Given the description of an element on the screen output the (x, y) to click on. 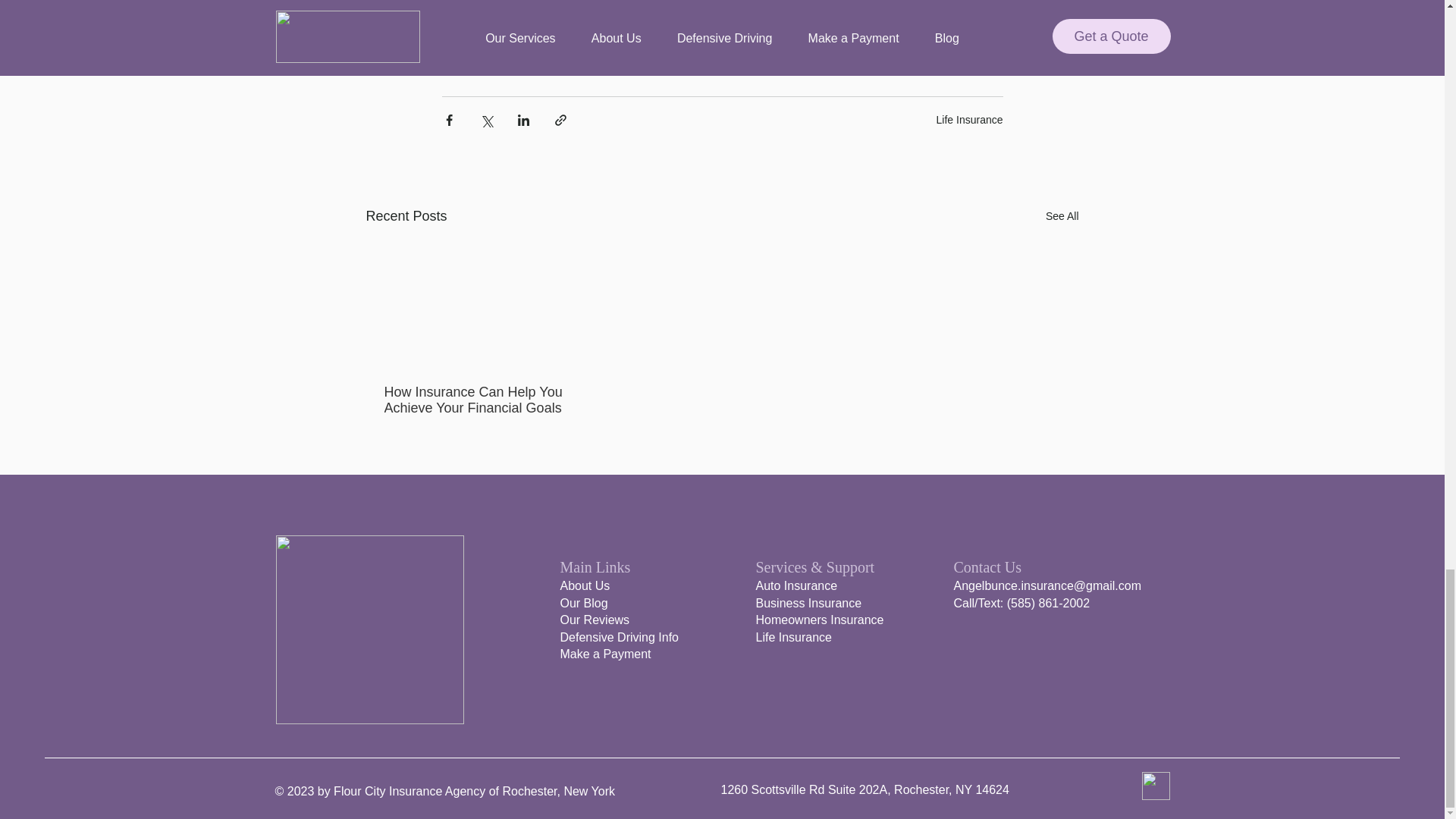
Defensive Driving Info (618, 636)
Homeowners Insurance (819, 619)
Business Insurance (808, 603)
Life Insurance (969, 119)
Auto Insurance (796, 585)
How Insurance Can Help You Achieve Your Financial Goals (475, 400)
Make a Payment (604, 653)
Flour city insurance full logo.png (370, 629)
See All (1061, 216)
Our Reviews (593, 619)
